Given the description of an element on the screen output the (x, y) to click on. 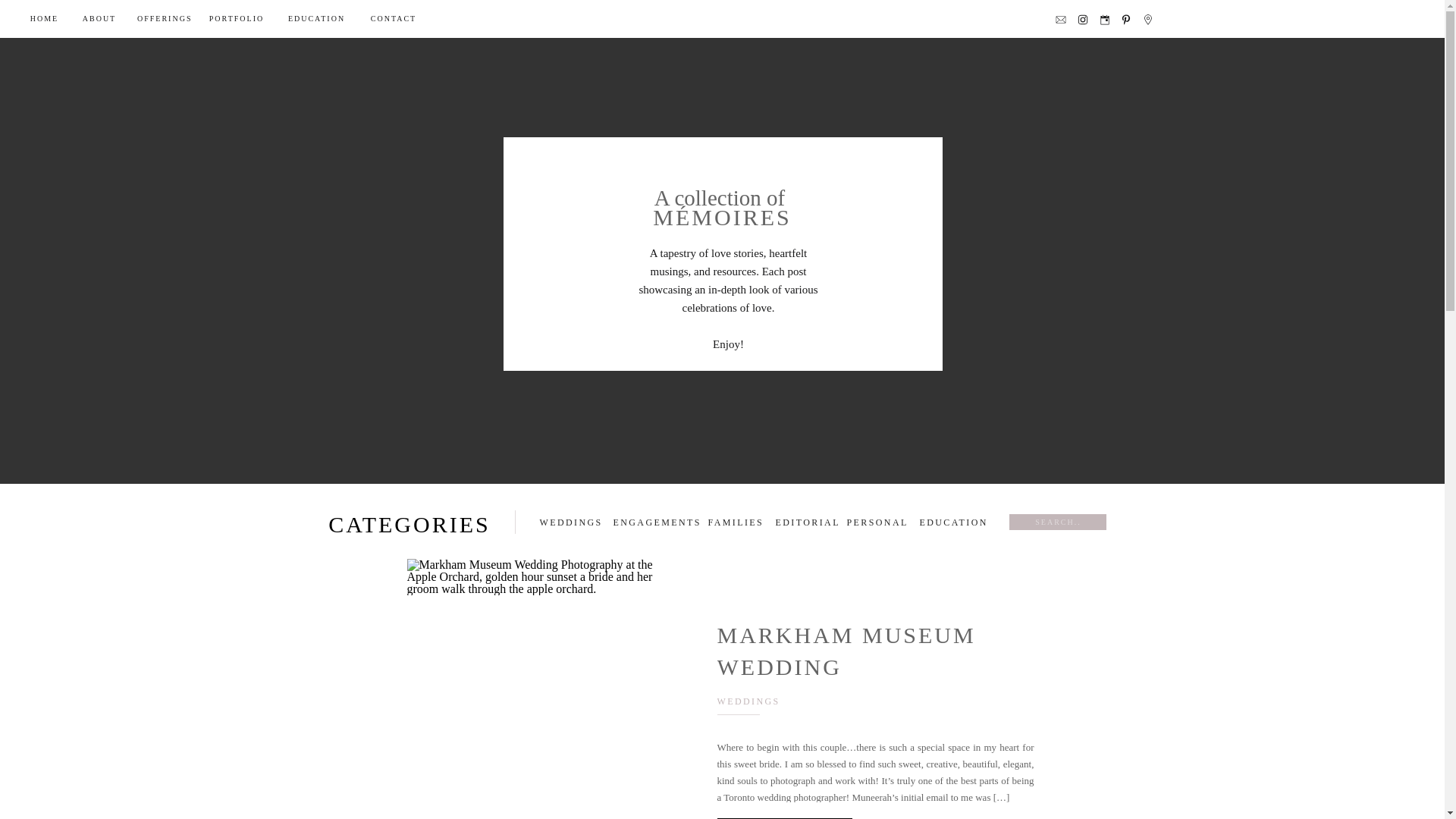
PORTFOLIO (236, 18)
EDUCATION (951, 522)
WEDDINGS (569, 522)
HOME (44, 18)
ENGAGEMENTS (653, 522)
EDUCATION (316, 18)
CONTACT (393, 18)
PERSONAL (875, 522)
WEDDINGS (748, 701)
EDITORIAL (803, 522)
